Given the description of an element on the screen output the (x, y) to click on. 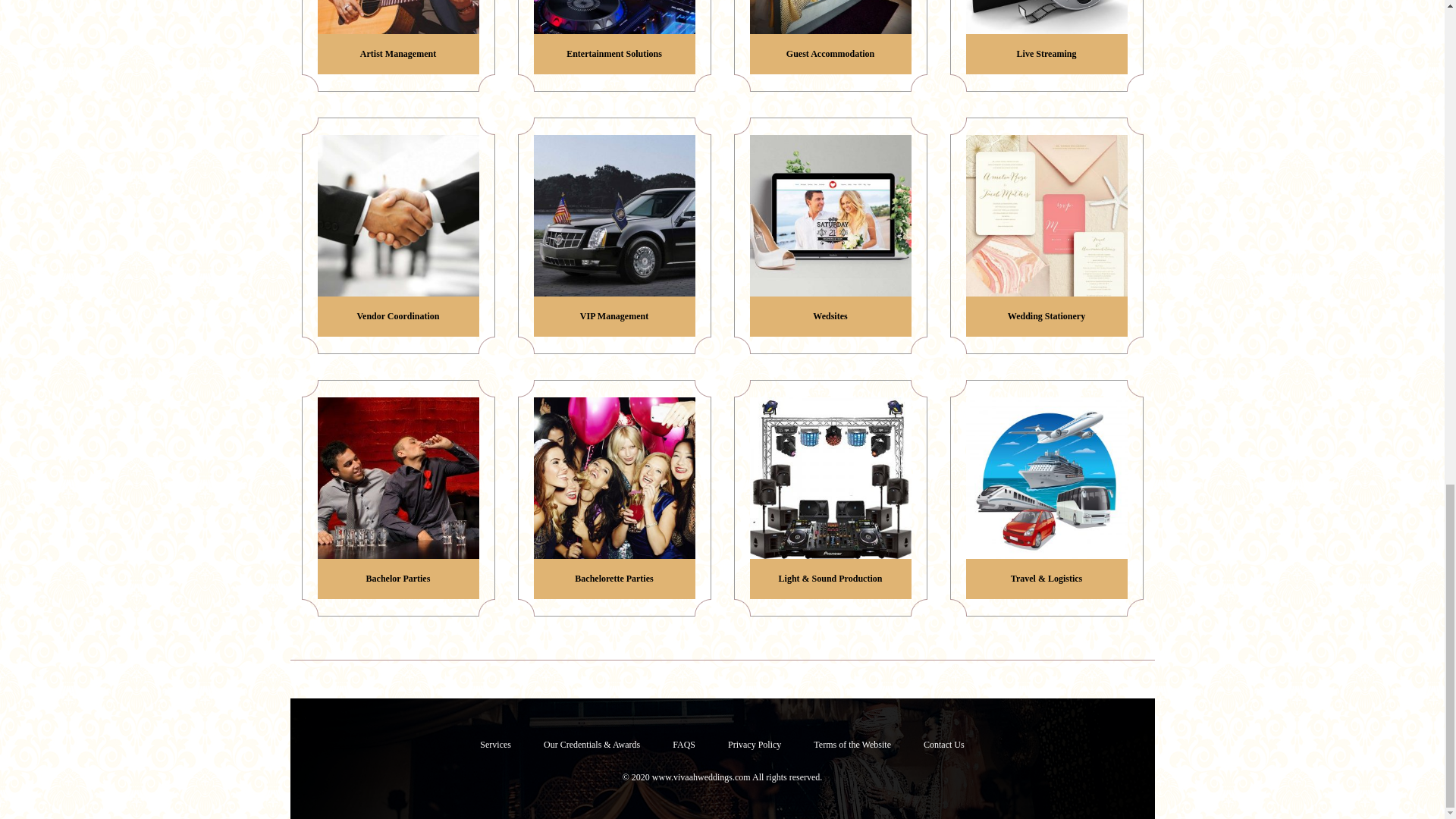
Entertainment Solutions (614, 37)
Artist Management (398, 37)
FAQS (684, 744)
Guest Accommodation (830, 37)
Live Streaming (1046, 37)
Services (494, 744)
